Given the description of an element on the screen output the (x, y) to click on. 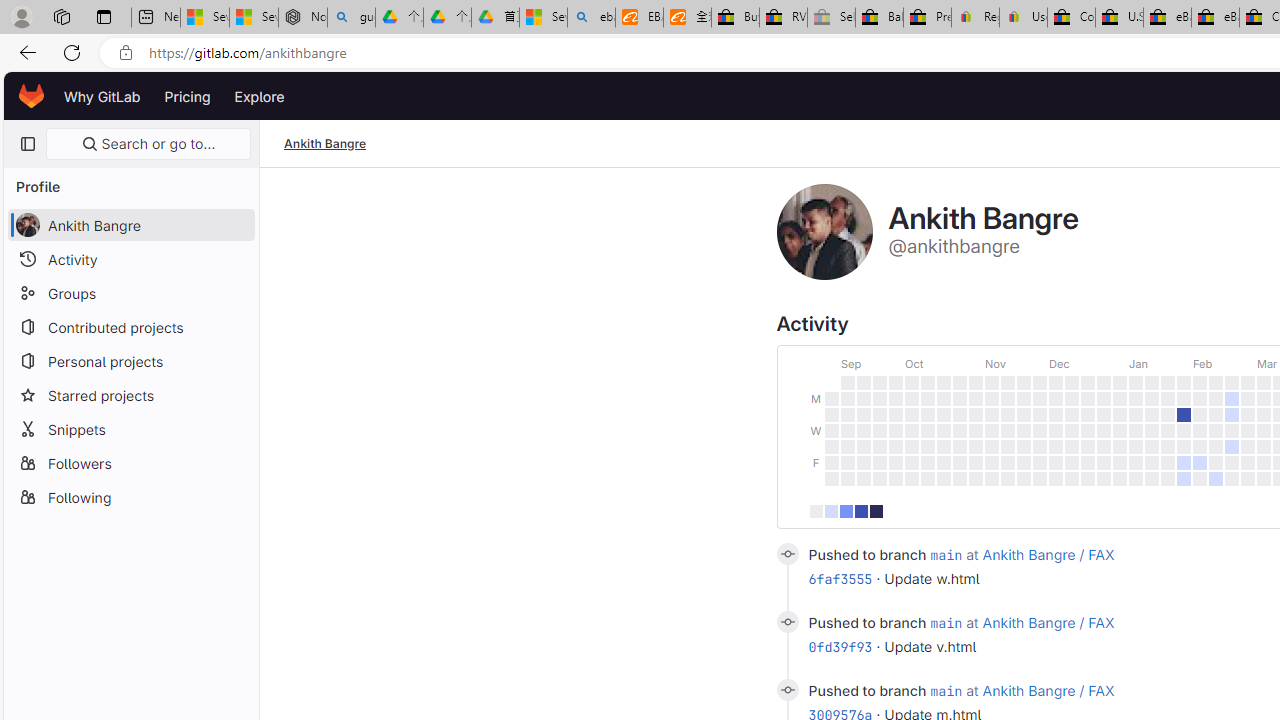
Buy Auto Parts & Accessories | eBay (735, 17)
Primary navigation sidebar (27, 143)
Consumer Health Data Privacy Policy - eBay Inc. (1071, 17)
